Given the description of an element on the screen output the (x, y) to click on. 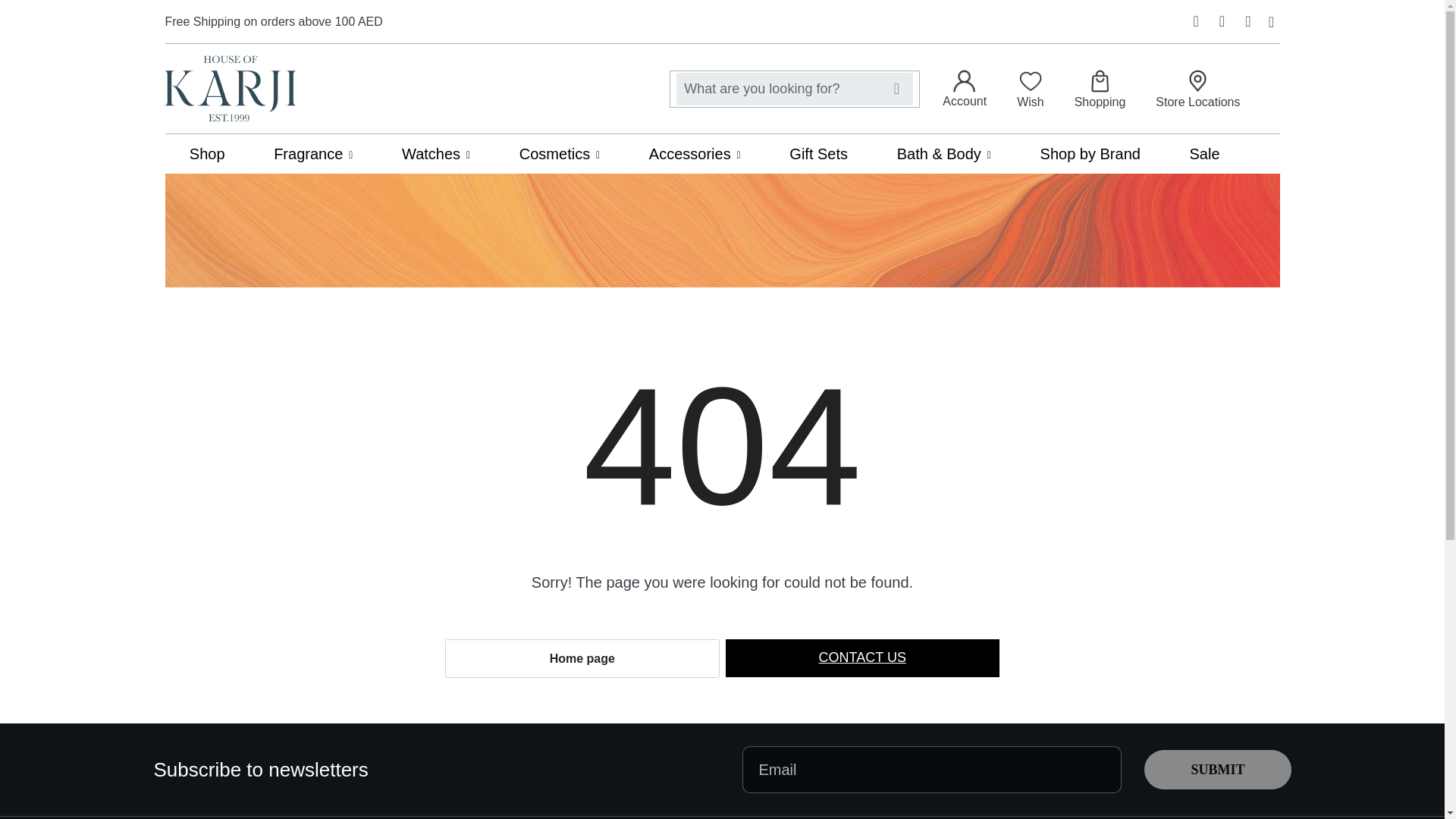
Fragrance (312, 153)
Karji (230, 88)
Cosmetics (559, 153)
Accessories (695, 153)
Account (964, 88)
Submit (1217, 769)
Store Locations (1198, 88)
Sale (1204, 153)
Gift Sets (818, 153)
Shopping (1099, 88)
Watches (435, 153)
Shop by Brand (1090, 153)
Shop (207, 153)
